Given the description of an element on the screen output the (x, y) to click on. 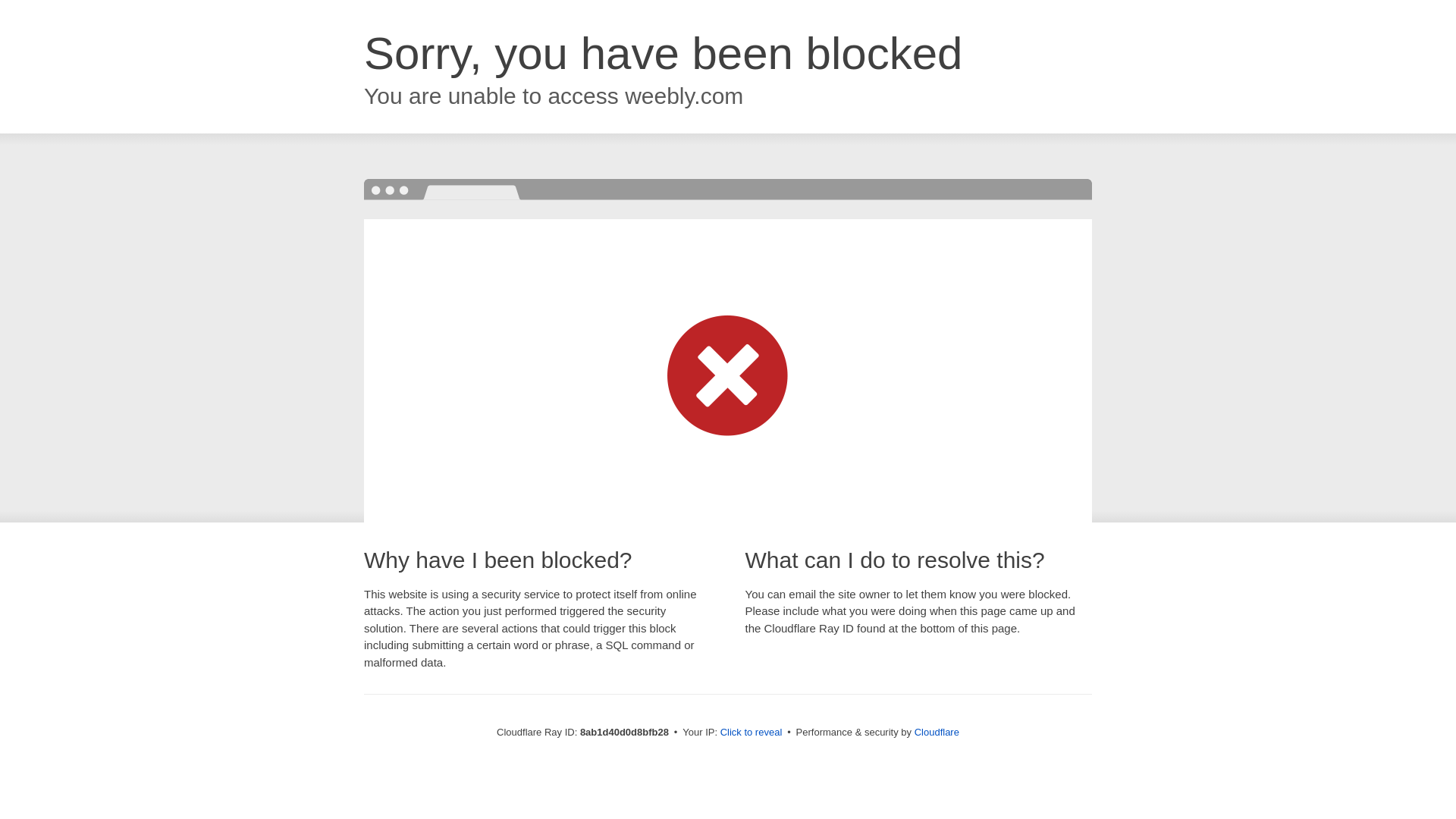
Cloudflare (936, 731)
Click to reveal (751, 732)
